Given the description of an element on the screen output the (x, y) to click on. 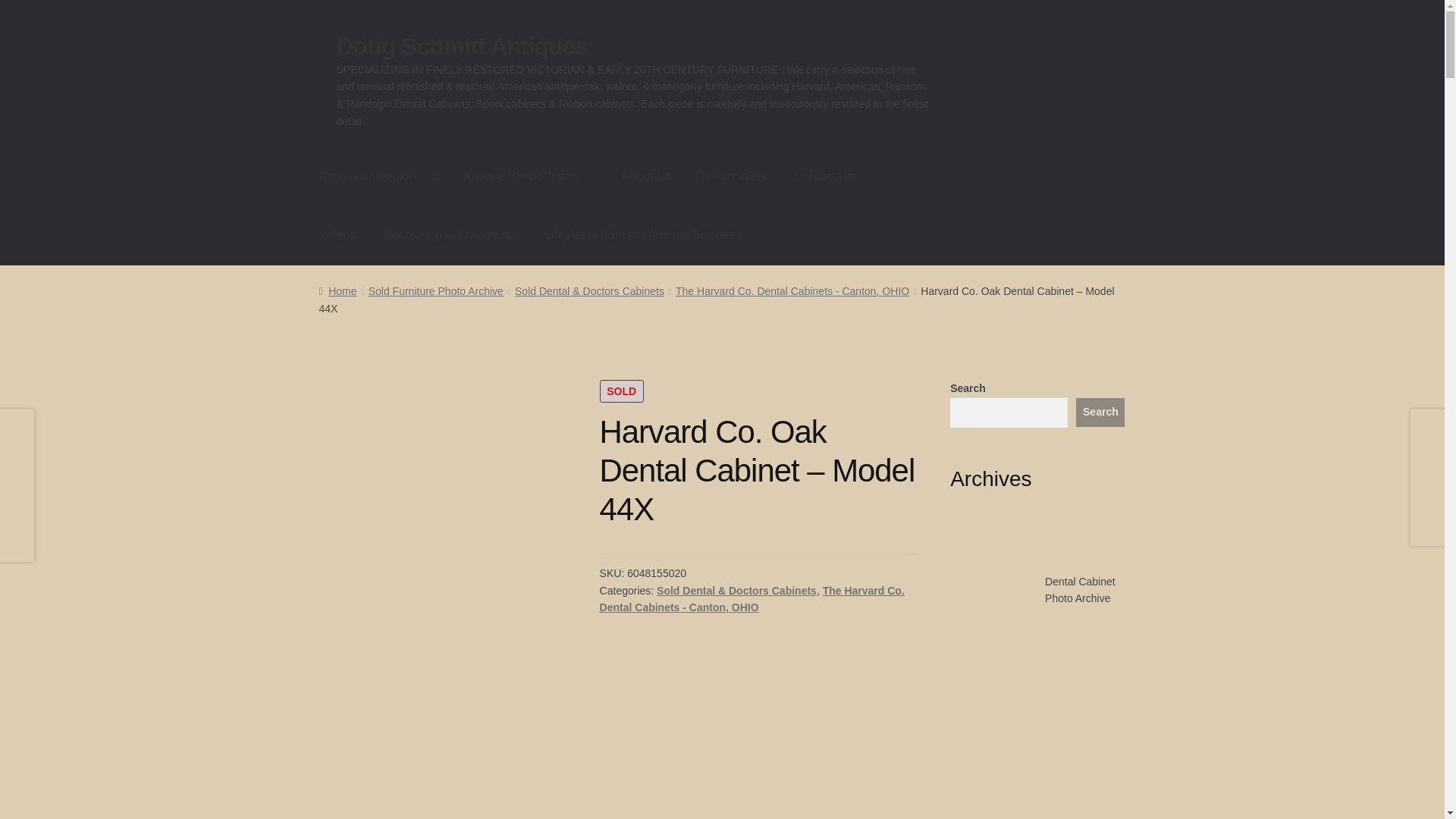
Contact Us (823, 176)
Videos (337, 235)
Testimonials (732, 176)
Antique Shop Photos (528, 176)
Decorating with Antiques (450, 235)
Antiques Inventory (377, 176)
The Harvard Co. Dental Cabinets - Canton, OHIO (791, 291)
Home (337, 291)
About Us (647, 176)
Life Aside from the Antique Business (643, 235)
Doug Schmitt Antiques (462, 45)
Sold Furniture Photo Archive (435, 291)
